Given the description of an element on the screen output the (x, y) to click on. 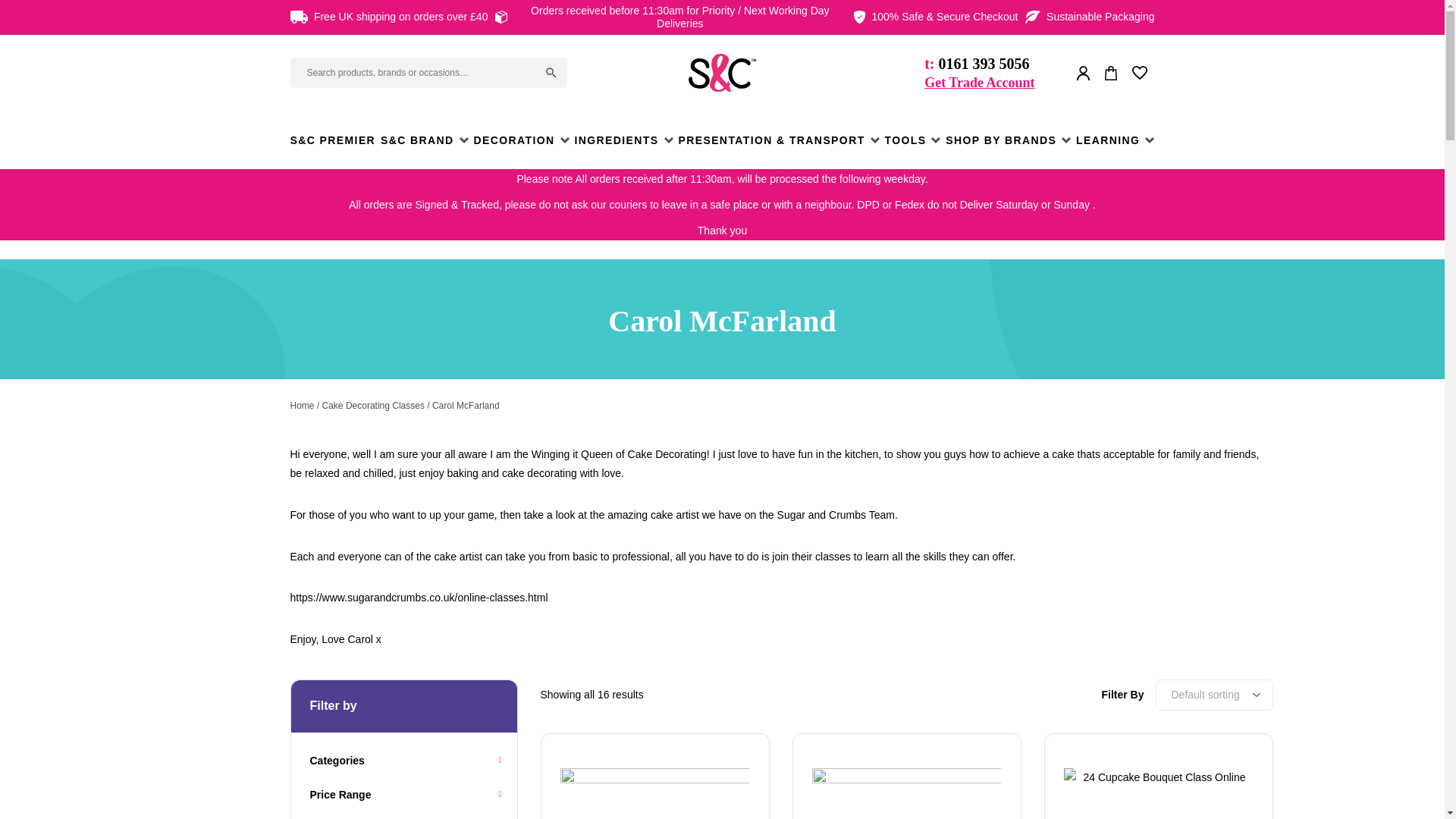
DECORATION (521, 140)
t: 0161 393 5056 (978, 64)
Get Trade Account (978, 83)
